Given the description of an element on the screen output the (x, y) to click on. 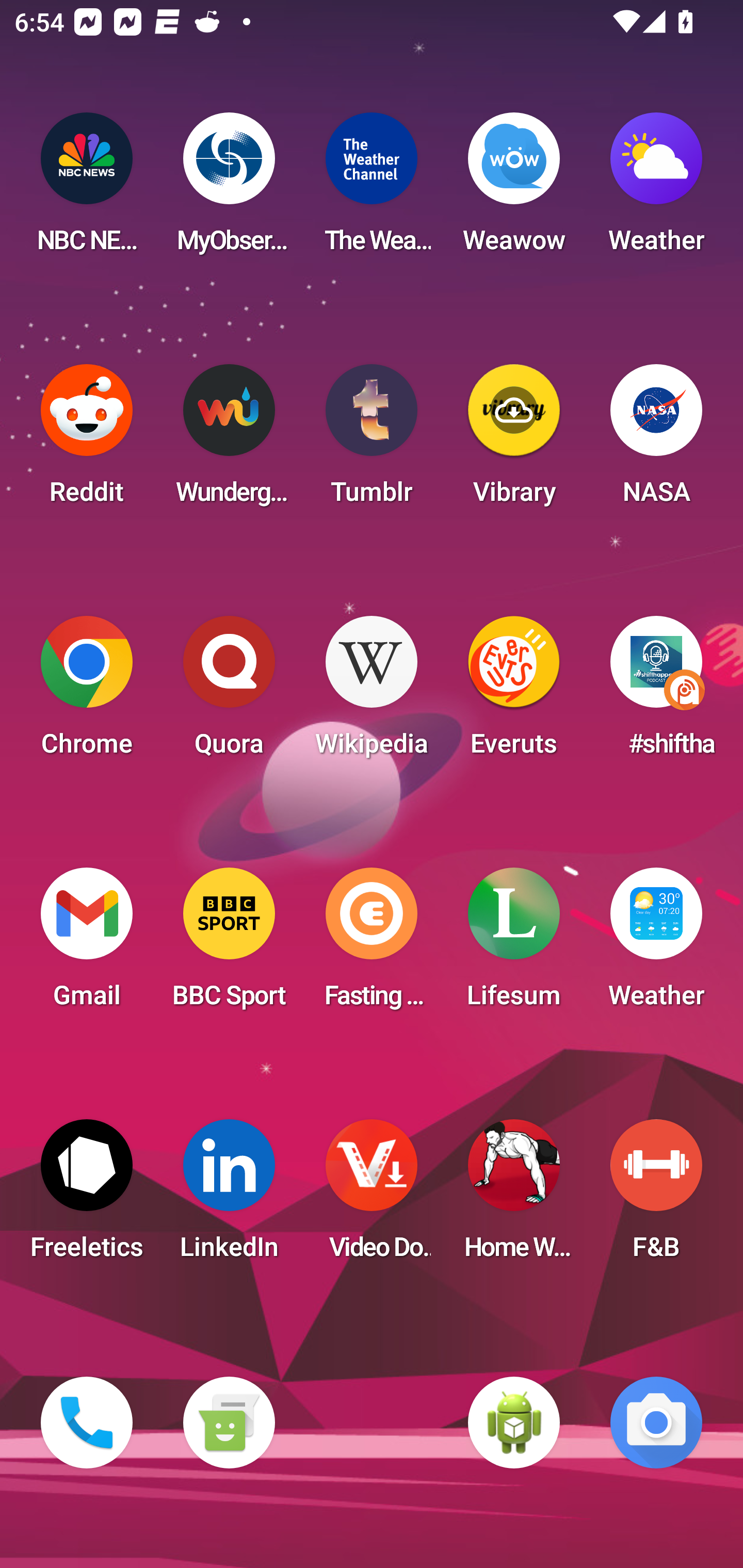
NBC NEWS (86, 188)
MyObservatory (228, 188)
The Weather Channel (371, 188)
Weawow (513, 188)
Weather (656, 188)
Reddit (86, 440)
Wunderground (228, 440)
Tumblr (371, 440)
Vibrary (513, 440)
NASA (656, 440)
Chrome (86, 692)
Quora (228, 692)
Wikipedia (371, 692)
Everuts (513, 692)
#shifthappens in the Digital Workplace Podcast (656, 692)
Gmail (86, 943)
BBC Sport (228, 943)
Fasting Coach (371, 943)
Lifesum (513, 943)
Weather (656, 943)
Freeletics (86, 1195)
LinkedIn (228, 1195)
Video Downloader & Ace Player (371, 1195)
Home Workout (513, 1195)
F&B (656, 1195)
Phone (86, 1422)
Messaging (228, 1422)
WebView Browser Tester (513, 1422)
Camera (656, 1422)
